Given the description of an element on the screen output the (x, y) to click on. 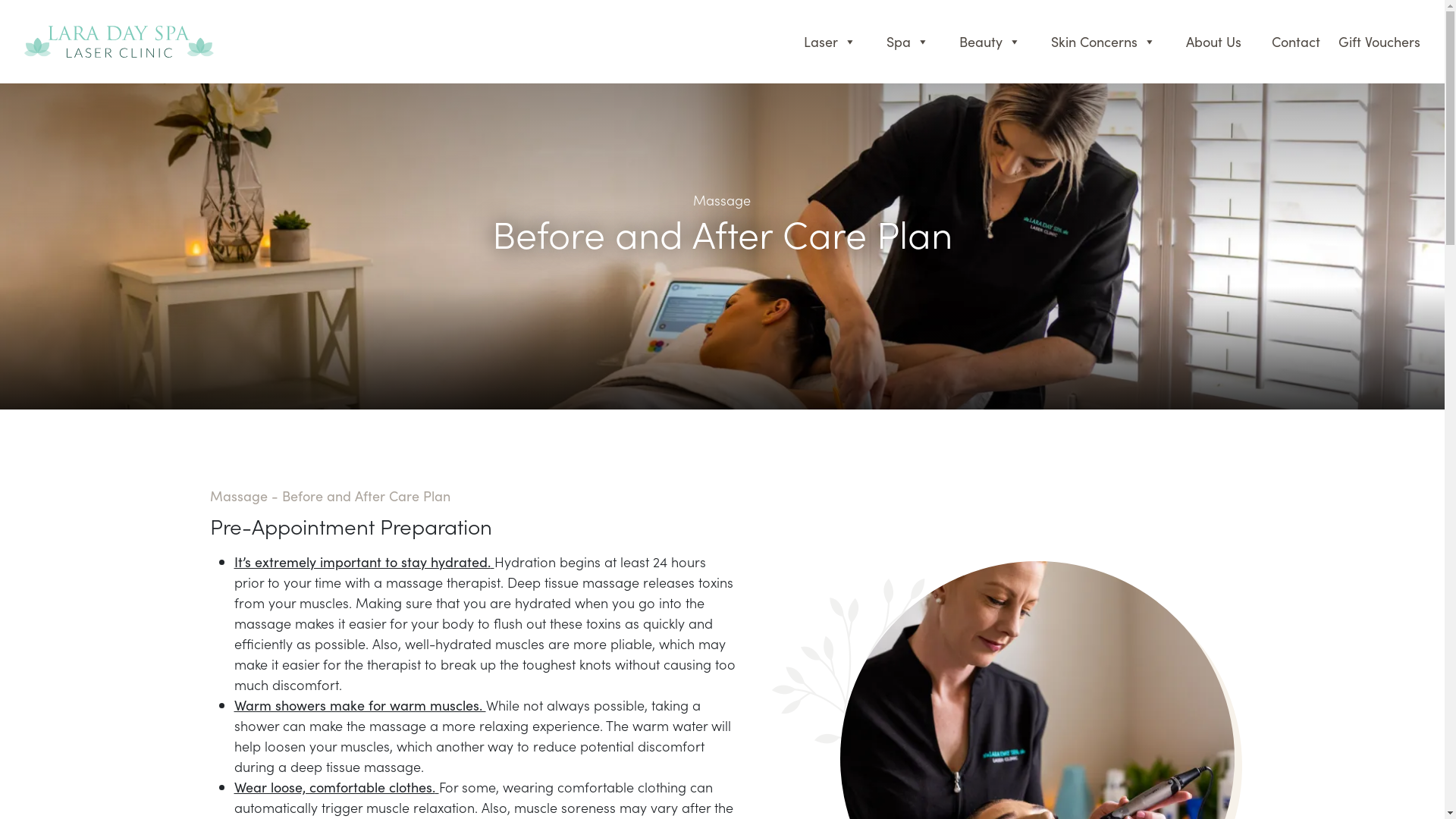
Skin Concerns Element type: text (1102, 41)
Gift Vouchers Element type: text (1377, 41)
About Us Element type: text (1213, 41)
Laser Element type: text (829, 41)
Spa Element type: text (907, 41)
Beauty Element type: text (989, 41)
Contact Element type: text (1295, 41)
